Given the description of an element on the screen output the (x, y) to click on. 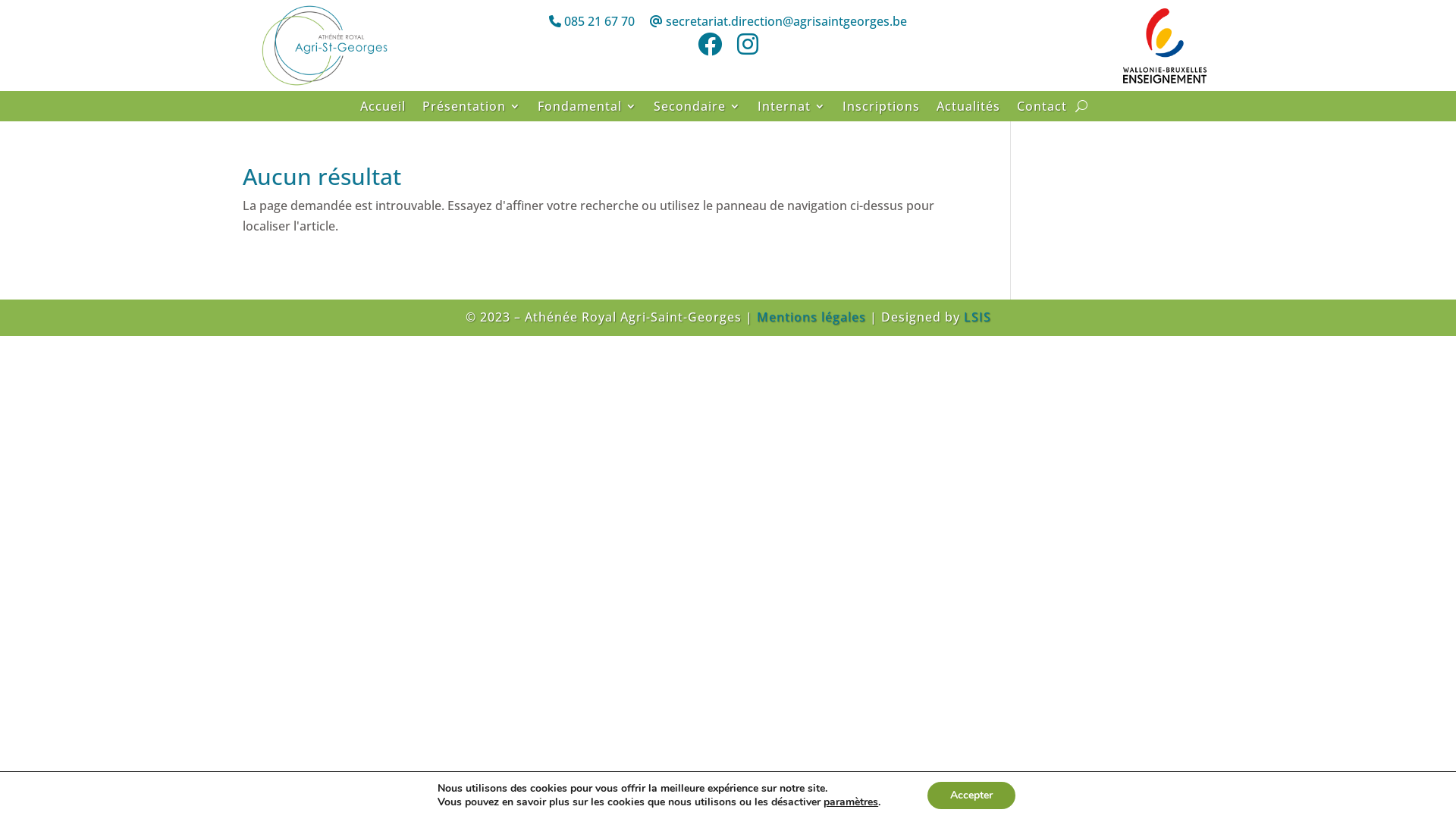
Inscriptions Element type: text (880, 108)
Accueil Element type: text (382, 108)
Secondaire Element type: text (696, 108)
085 21 67 70 Element type: text (591, 20)
Fondamental Element type: text (587, 108)
Accepter Element type: text (971, 795)
secretariat.direction@agrisaintgeorges.be Element type: text (777, 20)
Internat Element type: text (791, 108)
enseignement-FBW Element type: hover (1164, 45)
Contact Element type: text (1041, 108)
LSIS Element type: text (976, 316)
Logo HD AR Agri Stg transparent Element type: hover (323, 45)
